Given the description of an element on the screen output the (x, y) to click on. 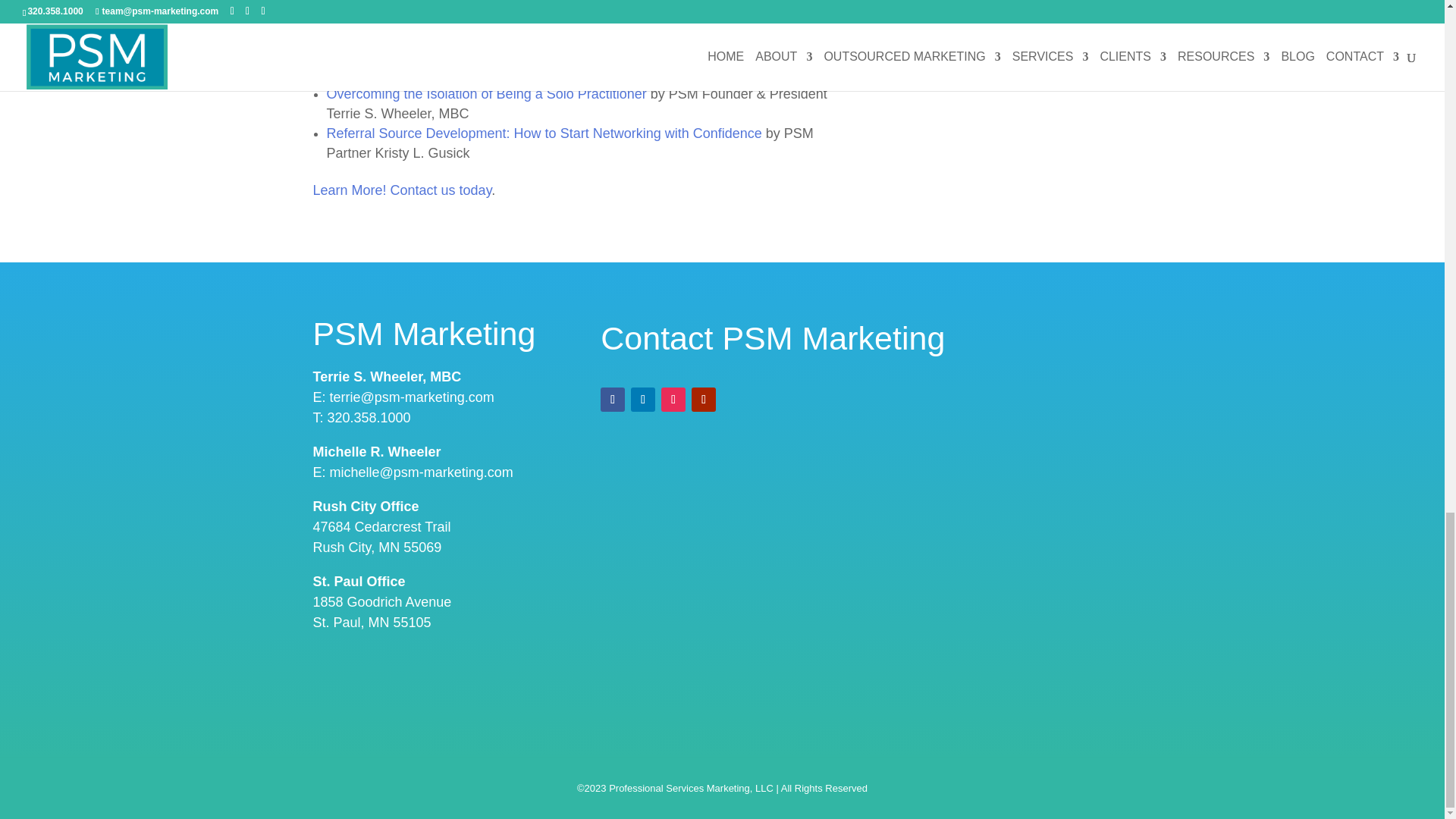
Follow on Facebook (611, 399)
Follow on Instagram (673, 399)
Follow on Youtube (703, 399)
Follow on LinkedIn (642, 399)
